Given the description of an element on the screen output the (x, y) to click on. 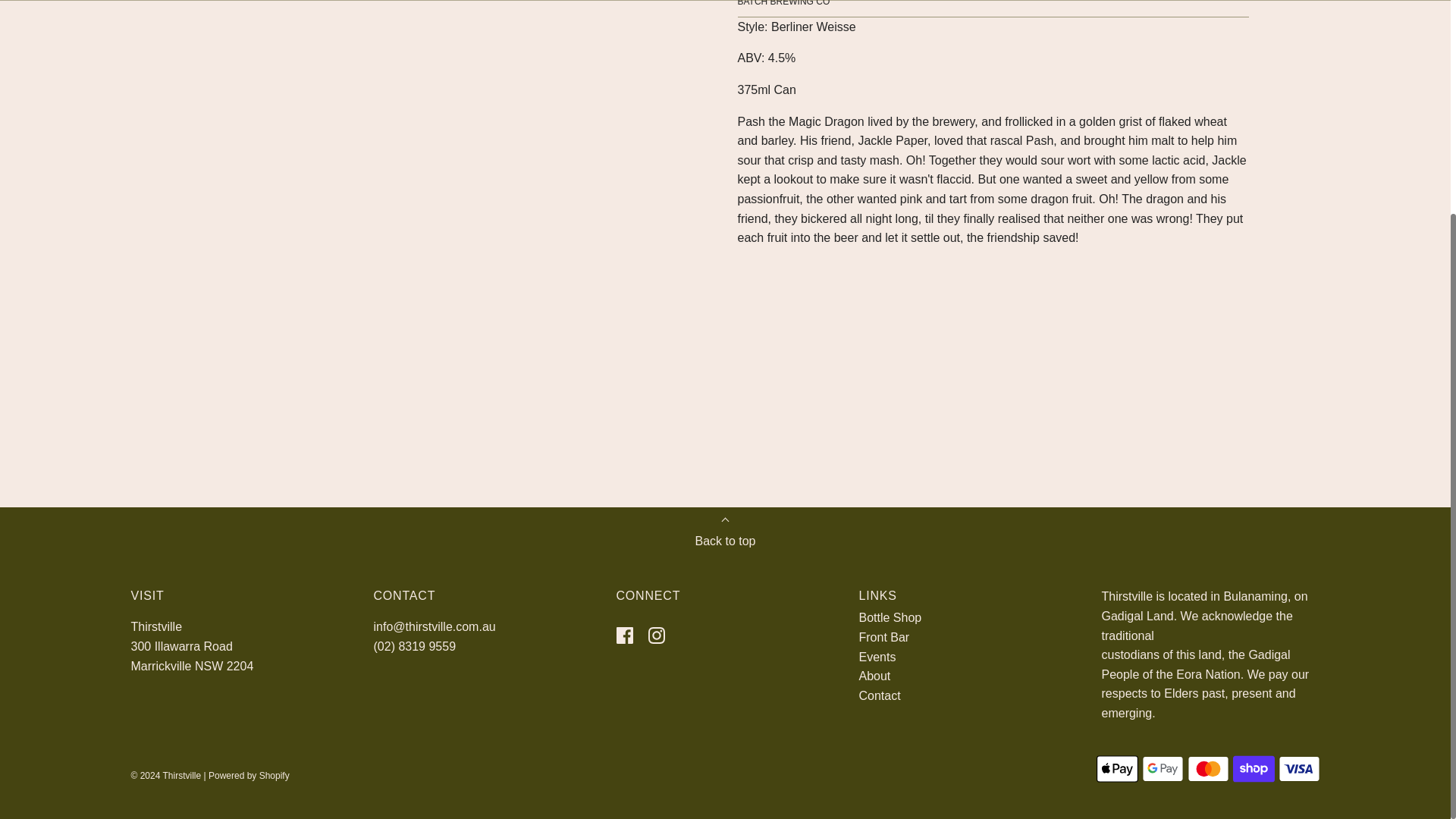
Apple Pay (1117, 768)
Visa (1299, 768)
Mastercard (1208, 768)
Shop Pay (1254, 768)
Instagram icon (655, 635)
Google Pay (1162, 768)
Facebook icon (623, 635)
